Given the description of an element on the screen output the (x, y) to click on. 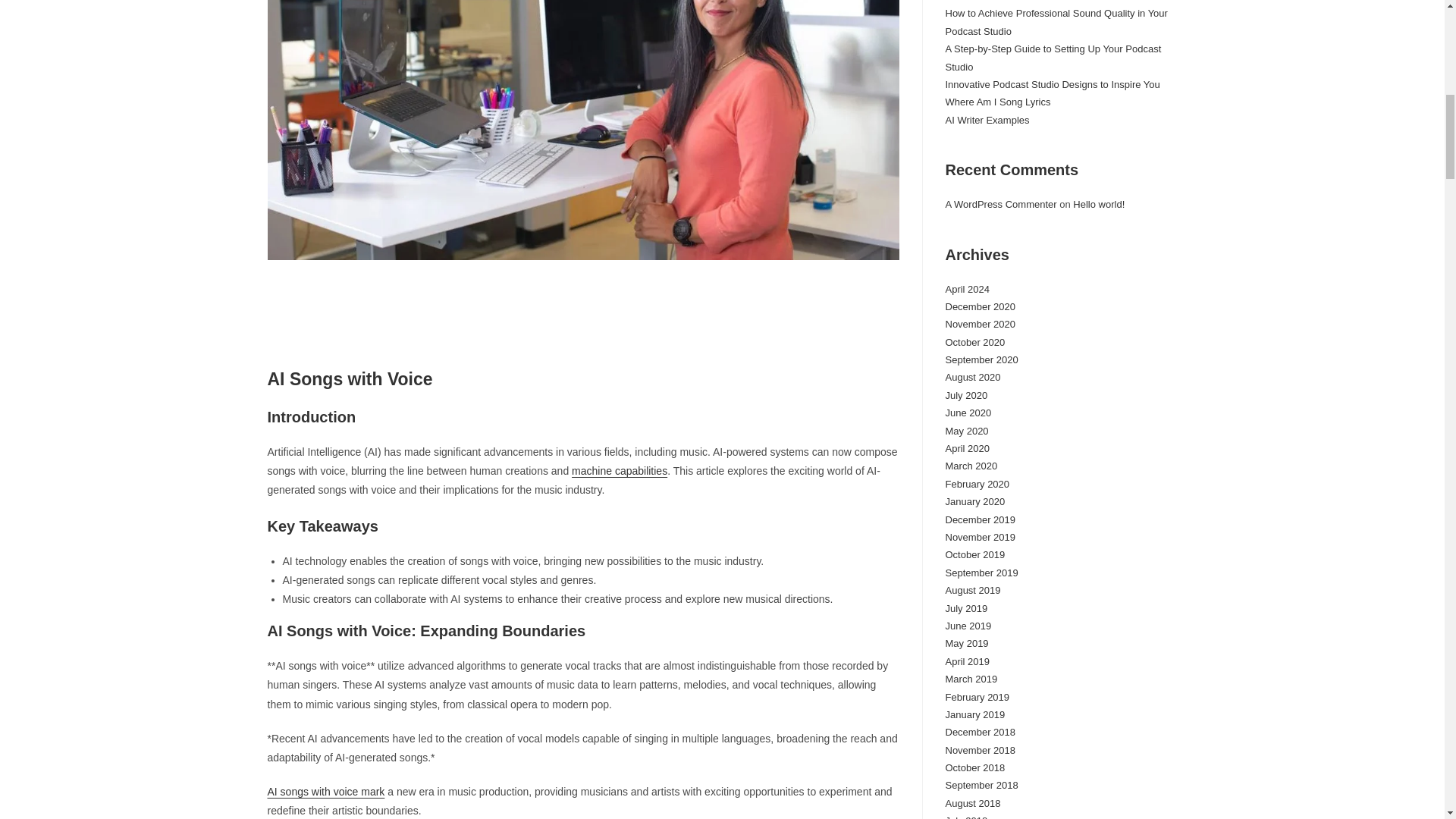
machine capabilities (619, 470)
AI songs with voice mark (325, 791)
